Given the description of an element on the screen output the (x, y) to click on. 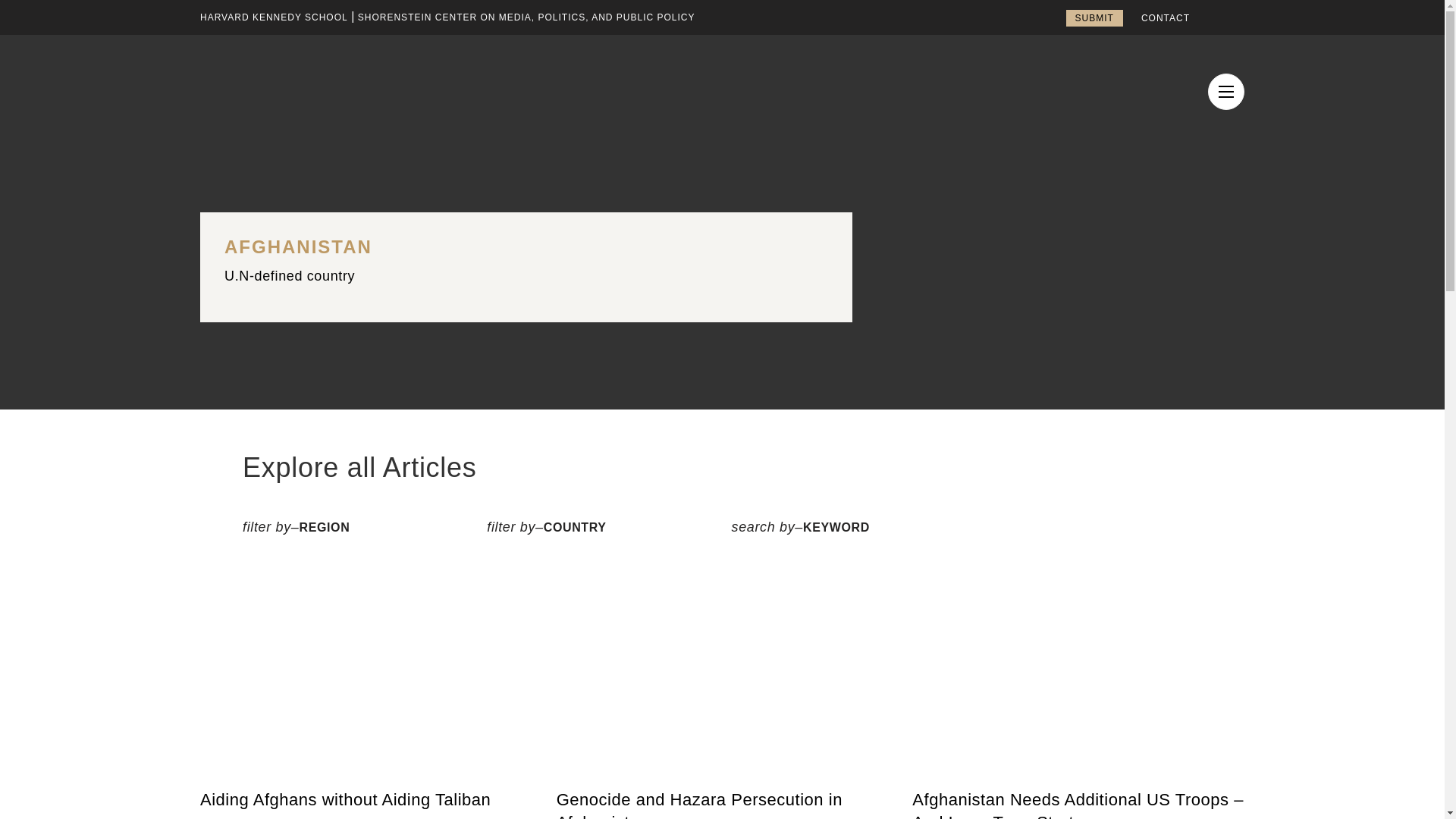
HKS Student Policy Review (329, 78)
CONTACT (1165, 18)
Genocide and Hazara Persecution in Afghanistan (722, 803)
SUBMIT (1093, 17)
Aiding Afghans without Aiding Taliban (366, 799)
HARVARD KENNEDY SCHOOL (273, 17)
SHORENSTEIN CENTER ON MEDIA, POLITICS, AND PUBLIC POLICY (526, 17)
Aiding Afghans without Aiding Taliban (366, 799)
Genocide and Hazara Persecution in Afghanistan (722, 803)
Shorenstein Center on Media, Politics, and Public Policy (526, 17)
Harvard Kennedy School (273, 17)
